Given the description of an element on the screen output the (x, y) to click on. 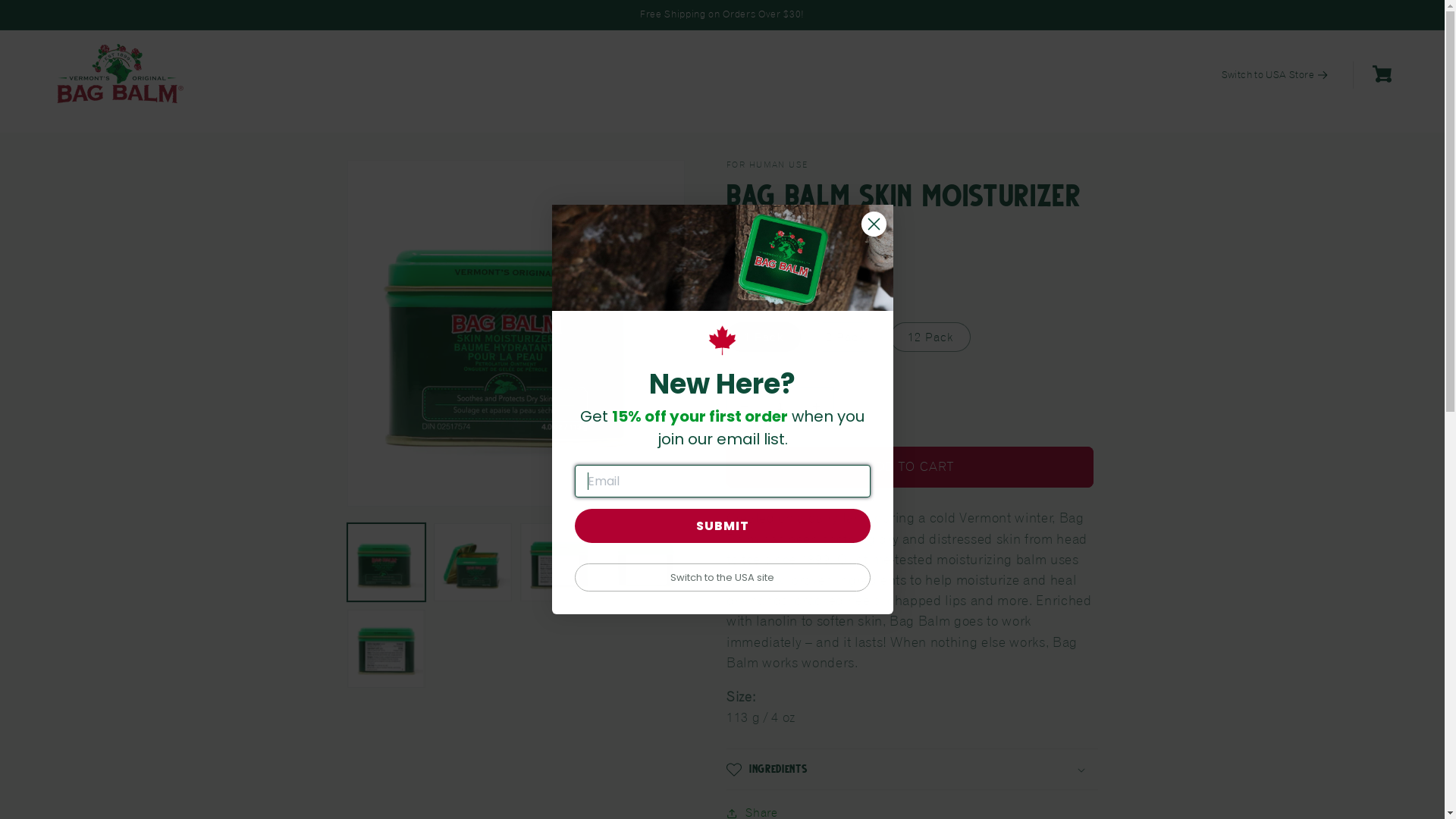
SKIP TO PRODUCT INFORMATION Element type: text (396, 179)
(3) Element type: text (912, 237)
Increase quantity for Bag Balm Skin Moisturizer Element type: text (816, 406)
ADD TO CART Element type: text (909, 466)
Close dialog 1 Element type: text (872, 223)
Cart Element type: text (1381, 76)
Switch to the USA site Element type: text (722, 577)
Submit Element type: text (21, 7)
Decrease quantity for Bag Balm Skin Moisturizer Element type: text (744, 406)
Switch to USA Store Element type: text (1275, 74)
SUBMIT Element type: text (722, 525)
